Given the description of an element on the screen output the (x, y) to click on. 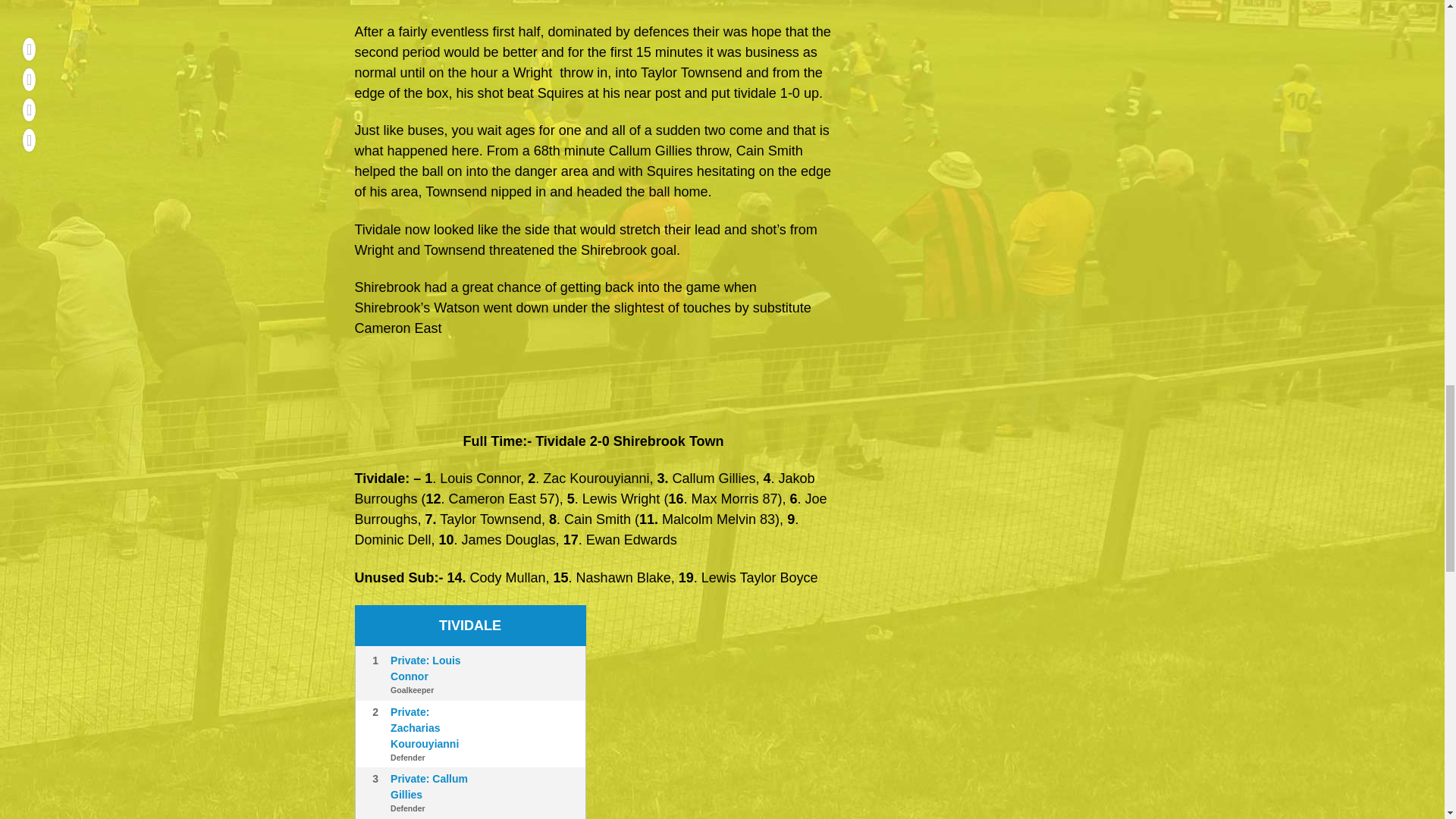
Private: Zacharias Kourouyianni (424, 727)
Private: Callum Gillies (428, 786)
Private: Louis Connor (425, 668)
